Given the description of an element on the screen output the (x, y) to click on. 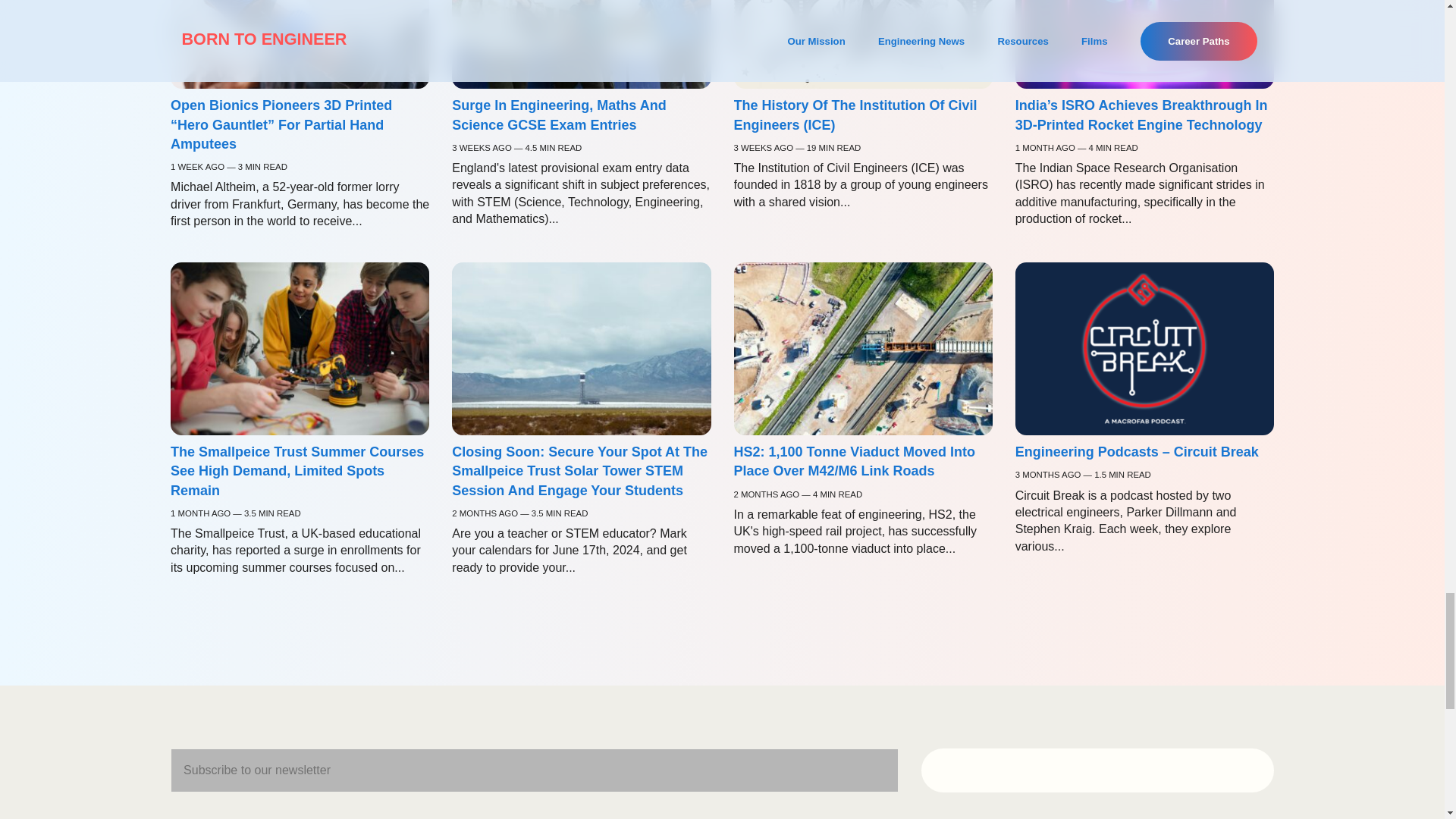
Subscribe (1097, 770)
